Given the description of an element on the screen output the (x, y) to click on. 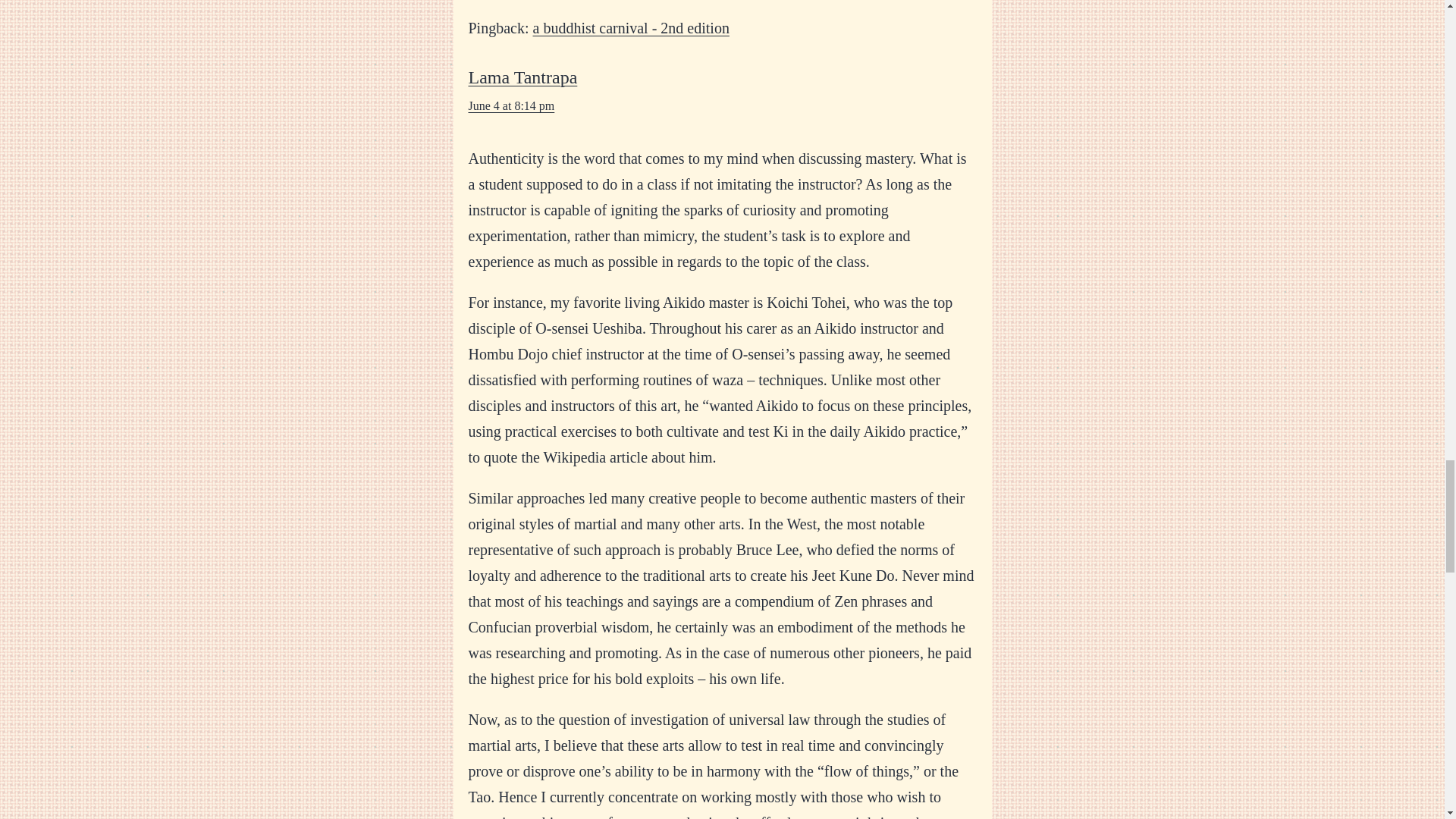
a buddhist carnival - 2nd edition (630, 27)
